Given the description of an element on the screen output the (x, y) to click on. 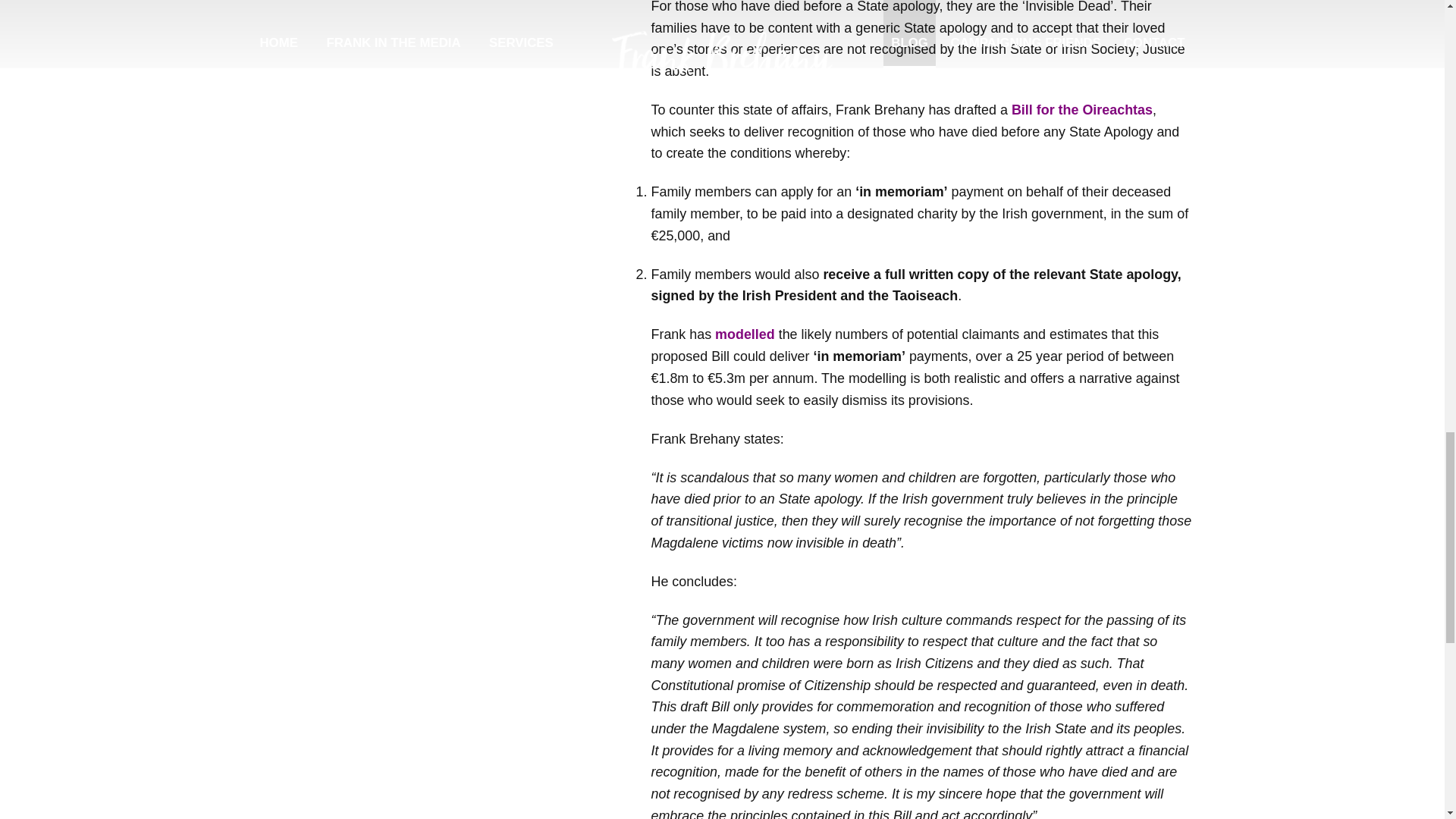
Bill for the Oireachtas (1082, 109)
modelled (744, 334)
